Given the description of an element on the screen output the (x, y) to click on. 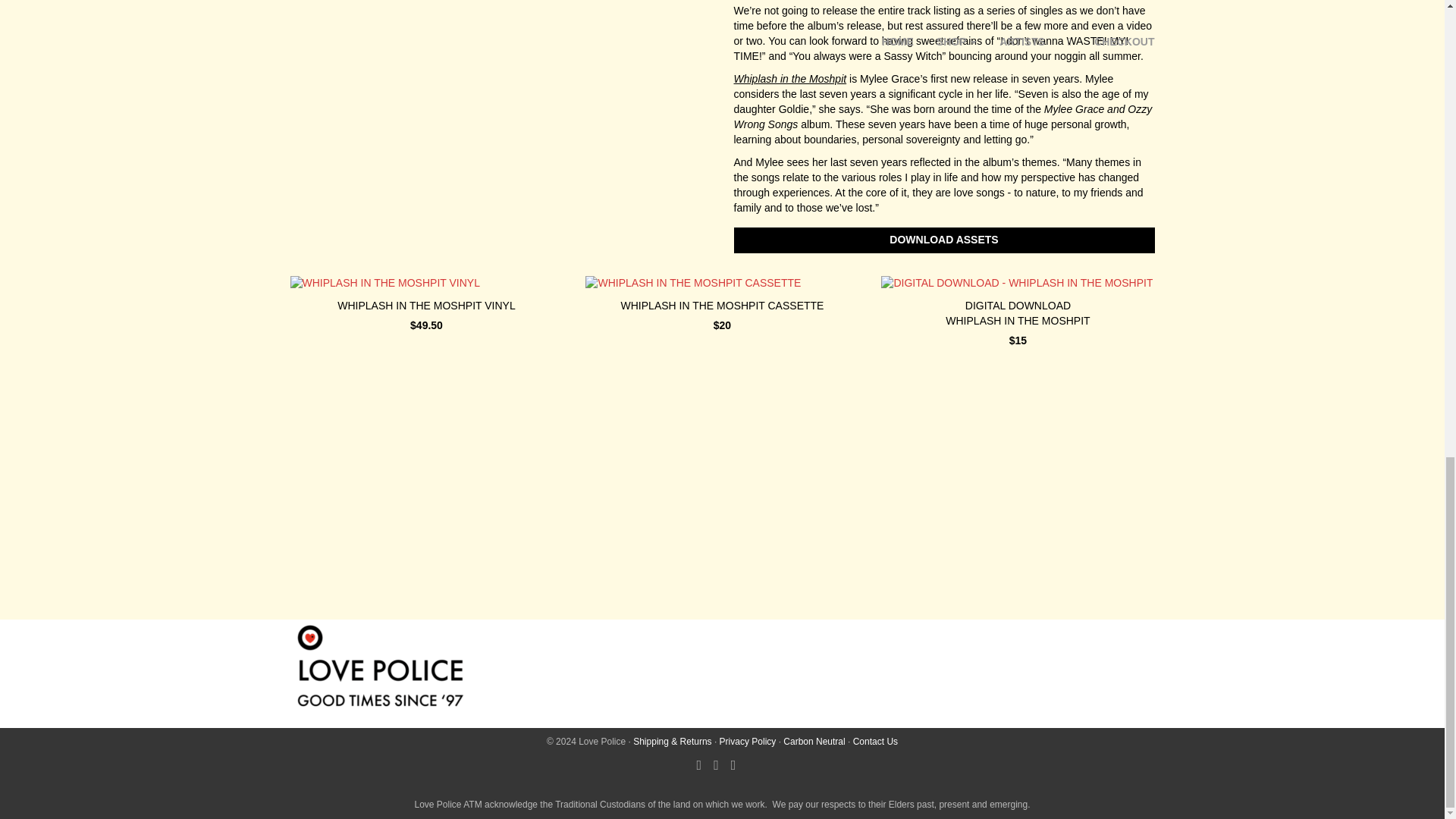
WHIPLASH IN THE MOSHPIT VINYL (425, 308)
Contact Us (875, 741)
Our commitment to carbon neutral shipping (813, 741)
Privacy Policy (747, 741)
Privacy policy (747, 741)
WHIPLASH IN THE MOSHPIT CASSETTE (722, 308)
DOWNLOAD ASSETS (943, 240)
DIGITAL DOWNLOAD - WHIPLASH IN THE MOSHPIT (1017, 316)
